Given the description of an element on the screen output the (x, y) to click on. 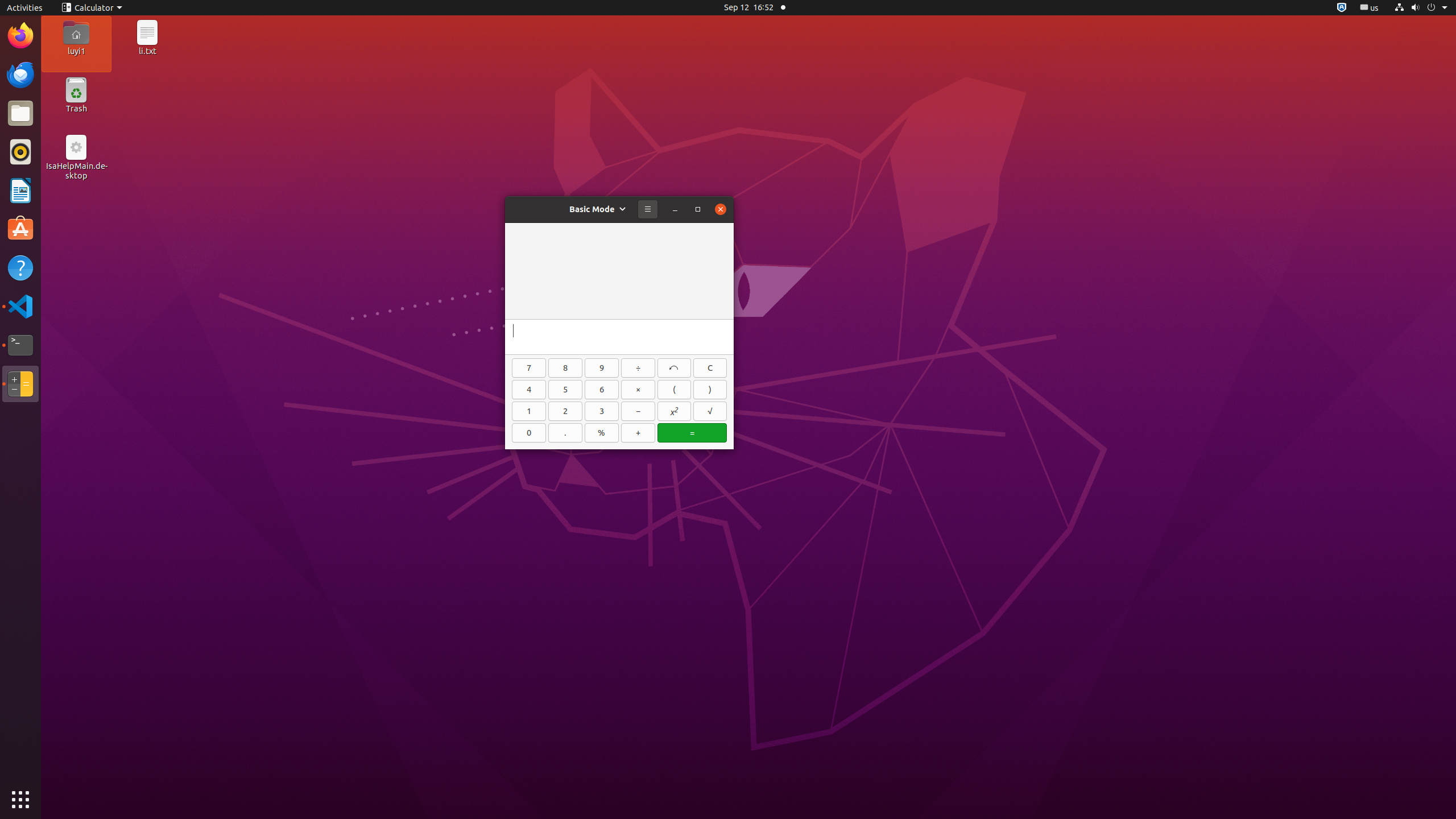
4 Element type: push-button (528, 389)
luyi1 Element type: label (75, 50)
9 Element type: push-button (601, 367)
2 Element type: push-button (565, 410)
÷ Element type: push-button (638, 367)
